Given the description of an element on the screen output the (x, y) to click on. 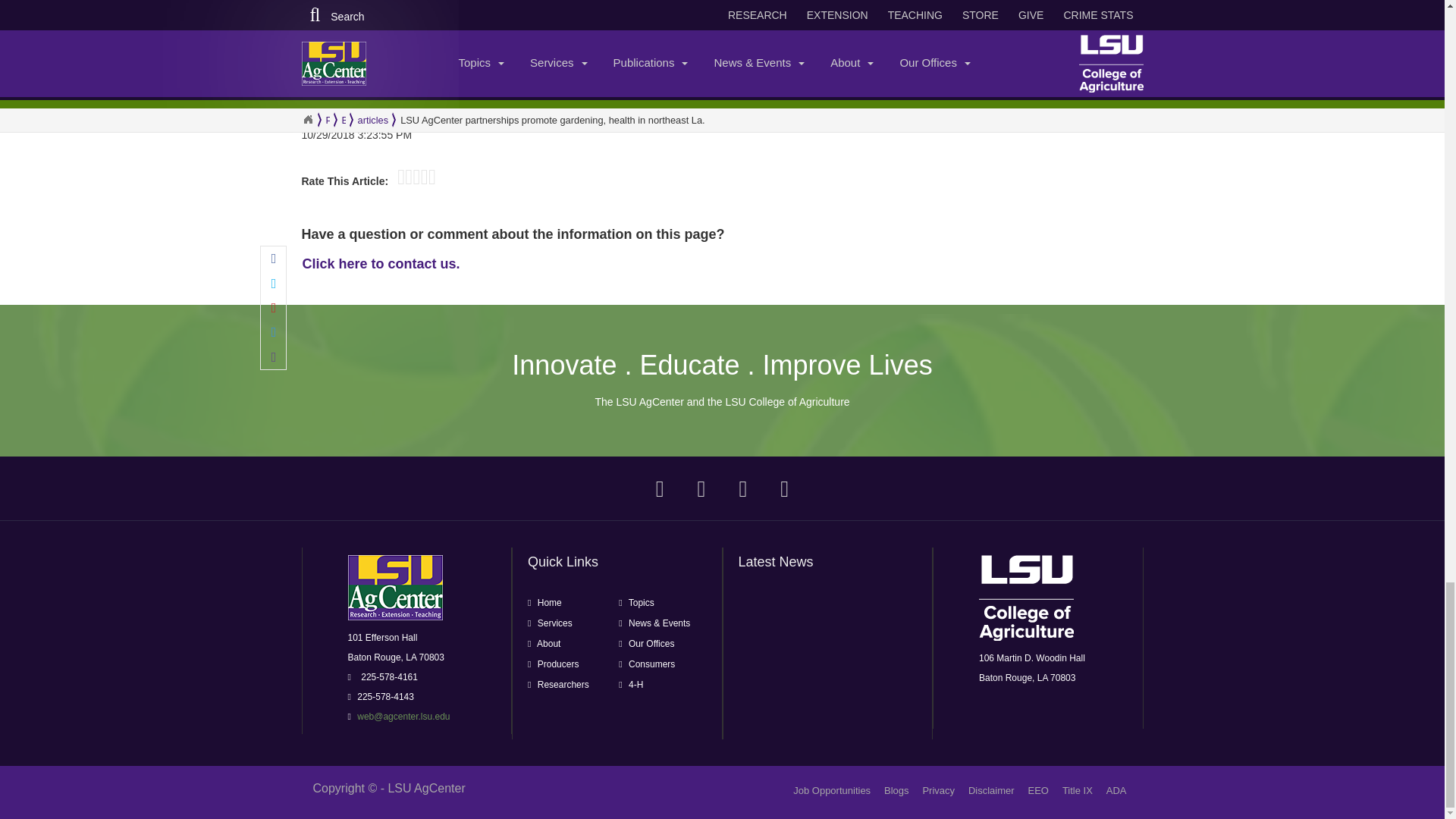
ADA Web Content Accessibility (1116, 790)
EEO (1037, 790)
Blogs (895, 790)
Privacyp (938, 790)
Careers (831, 790)
Title IX (1077, 790)
Disclaimer (991, 790)
